Given the description of an element on the screen output the (x, y) to click on. 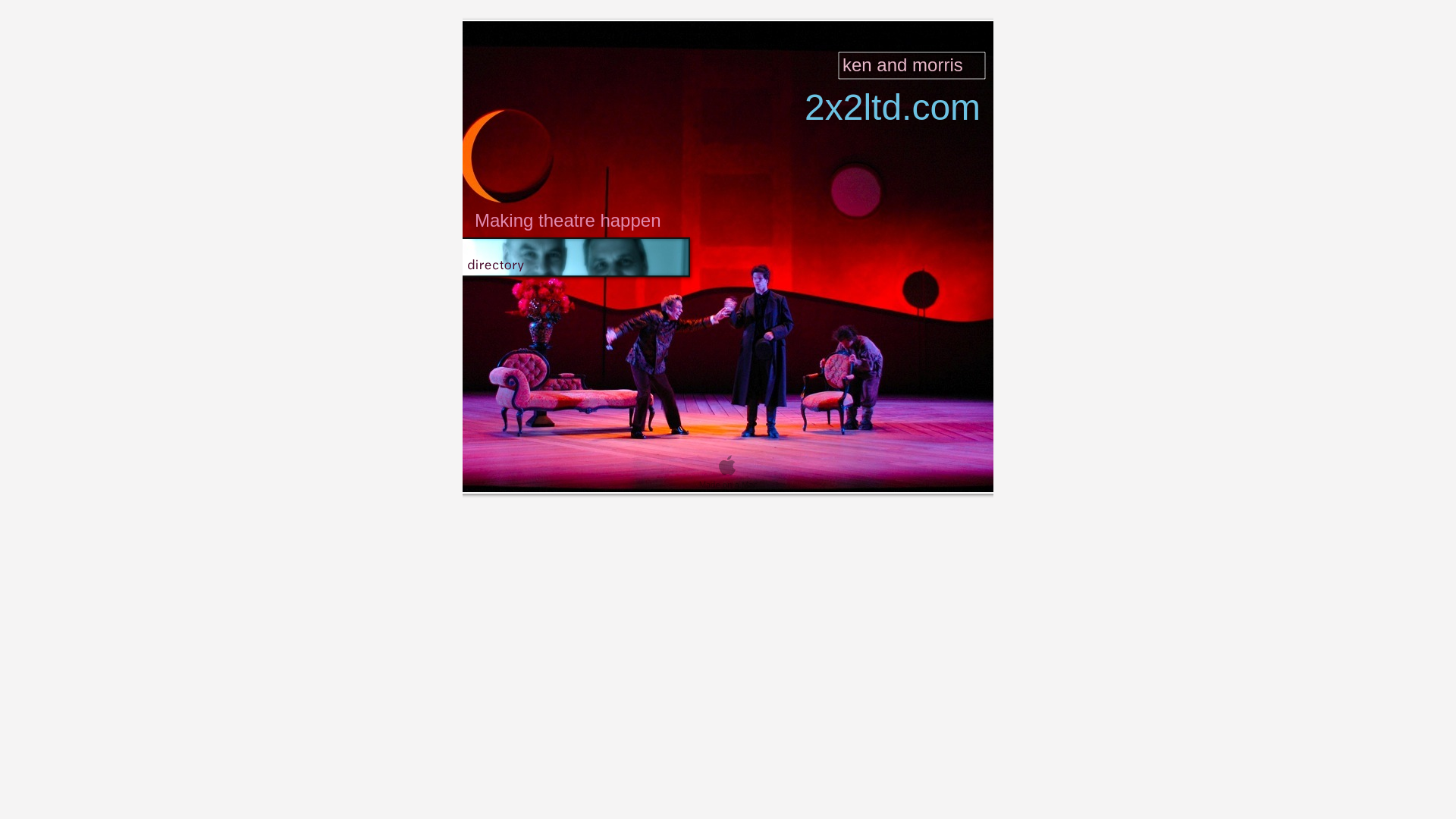
This is Element type: text (684, 25)
Gallery Element type: text (740, 25)
Workbook Element type: text (765, 41)
We are Element type: text (629, 25)
Images Element type: text (536, 41)
Links Element type: text (876, 25)
Us Element type: text (584, 25)
What's On Now Element type: text (682, 41)
How to find us Element type: text (945, 25)
2x2 Element type: text (479, 25)
Podcasts Element type: text (598, 41)
Directory Element type: text (532, 25)
Shop Element type: text (484, 41)
Publications Element type: text (810, 25)
